Given the description of an element on the screen output the (x, y) to click on. 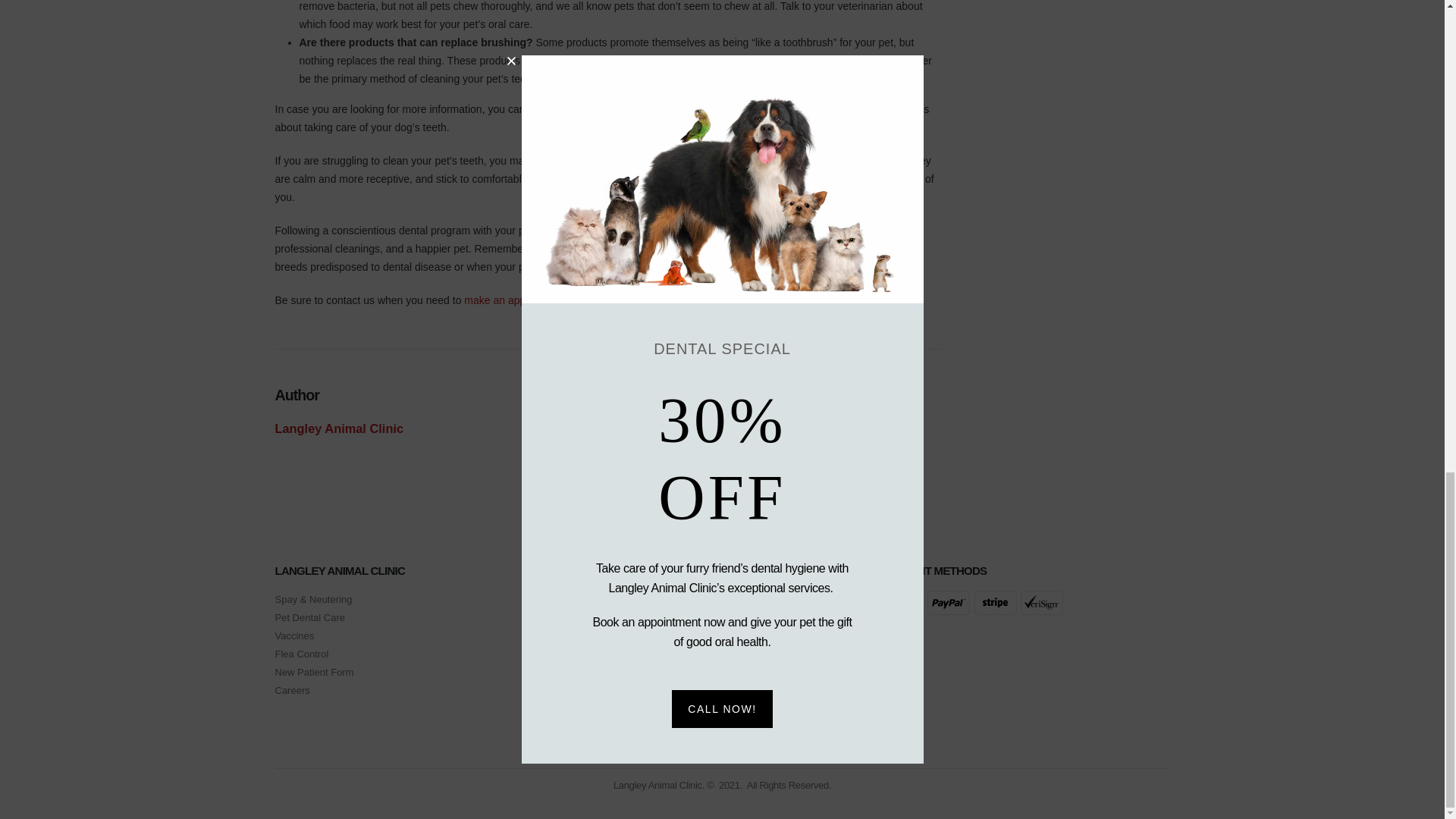
Posts by Langley Animal Clinic (339, 427)
